Given the description of an element on the screen output the (x, y) to click on. 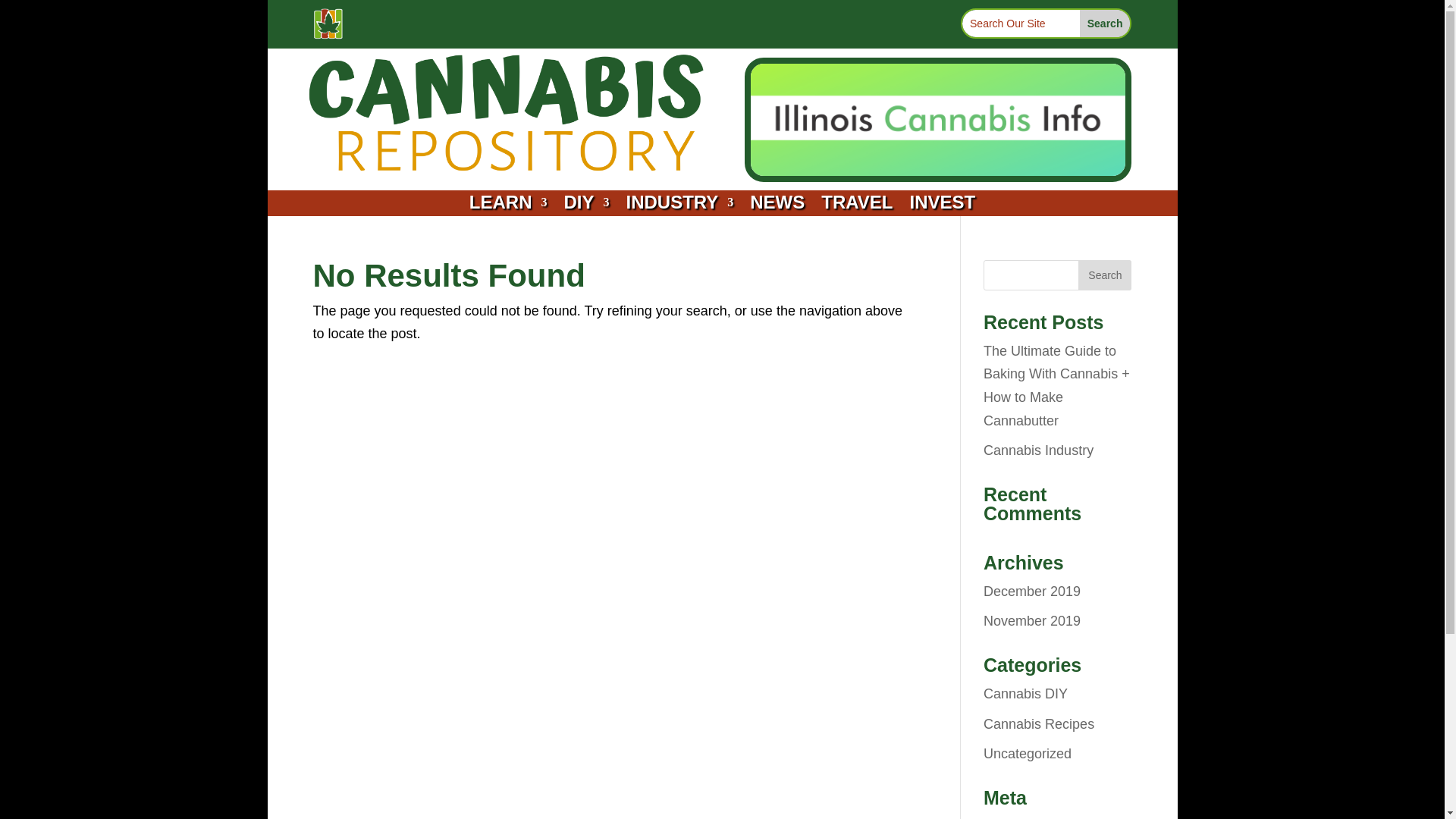
December 2019 (1032, 590)
Search (1104, 275)
Search (1104, 275)
NEWS (777, 205)
Search (1105, 22)
TRAVEL (856, 205)
LEARN (507, 205)
Cannabis Industry (1038, 450)
Search (1105, 22)
November 2019 (1032, 620)
DIY (585, 205)
Search (1105, 22)
INDUSTRY (679, 205)
INVEST (942, 205)
